Given the description of an element on the screen output the (x, y) to click on. 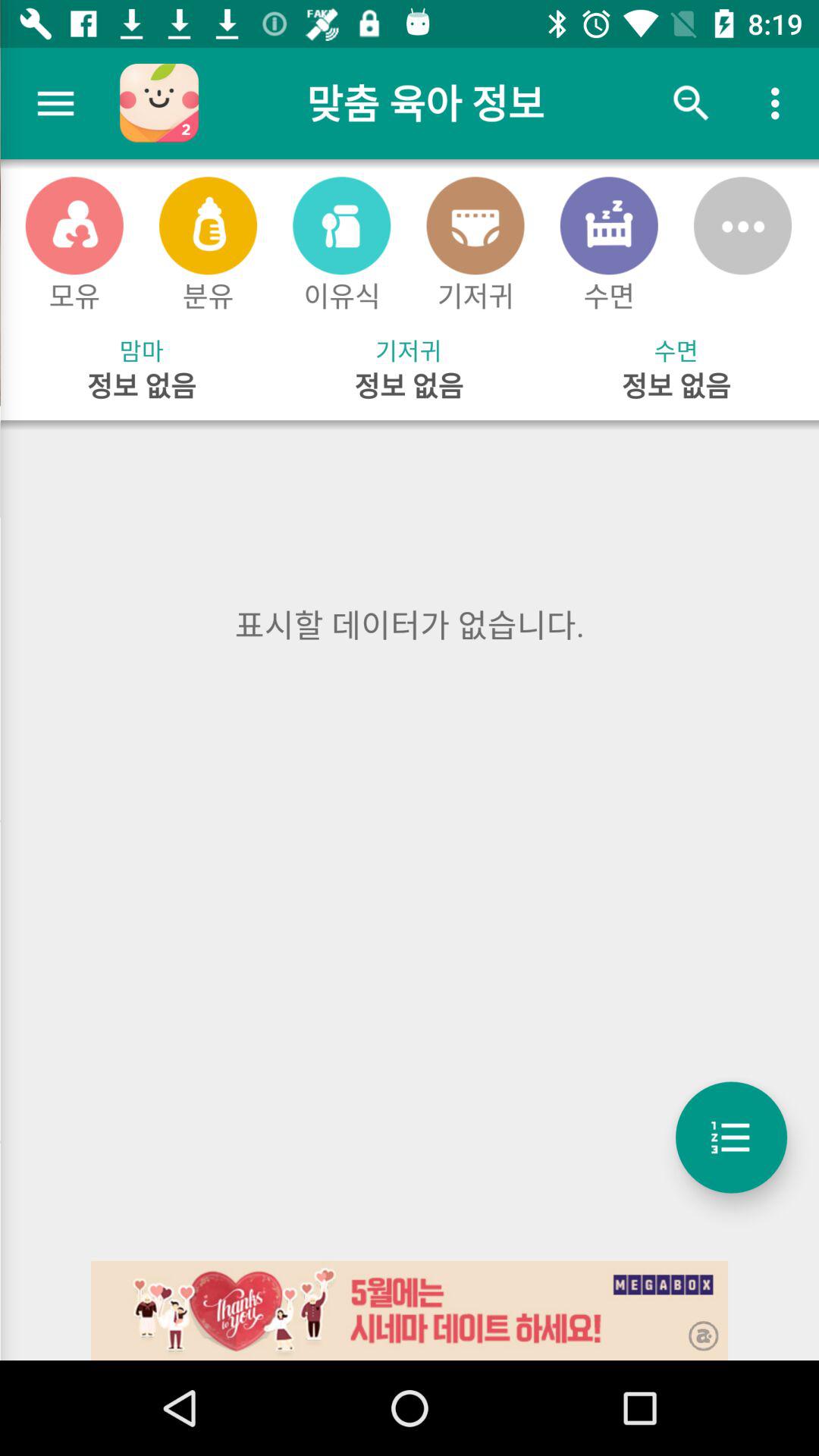
click on fourth icon at top (475, 225)
go to orange color icon (74, 225)
click on the symbol which is below megabox (693, 1325)
